Given the description of an element on the screen output the (x, y) to click on. 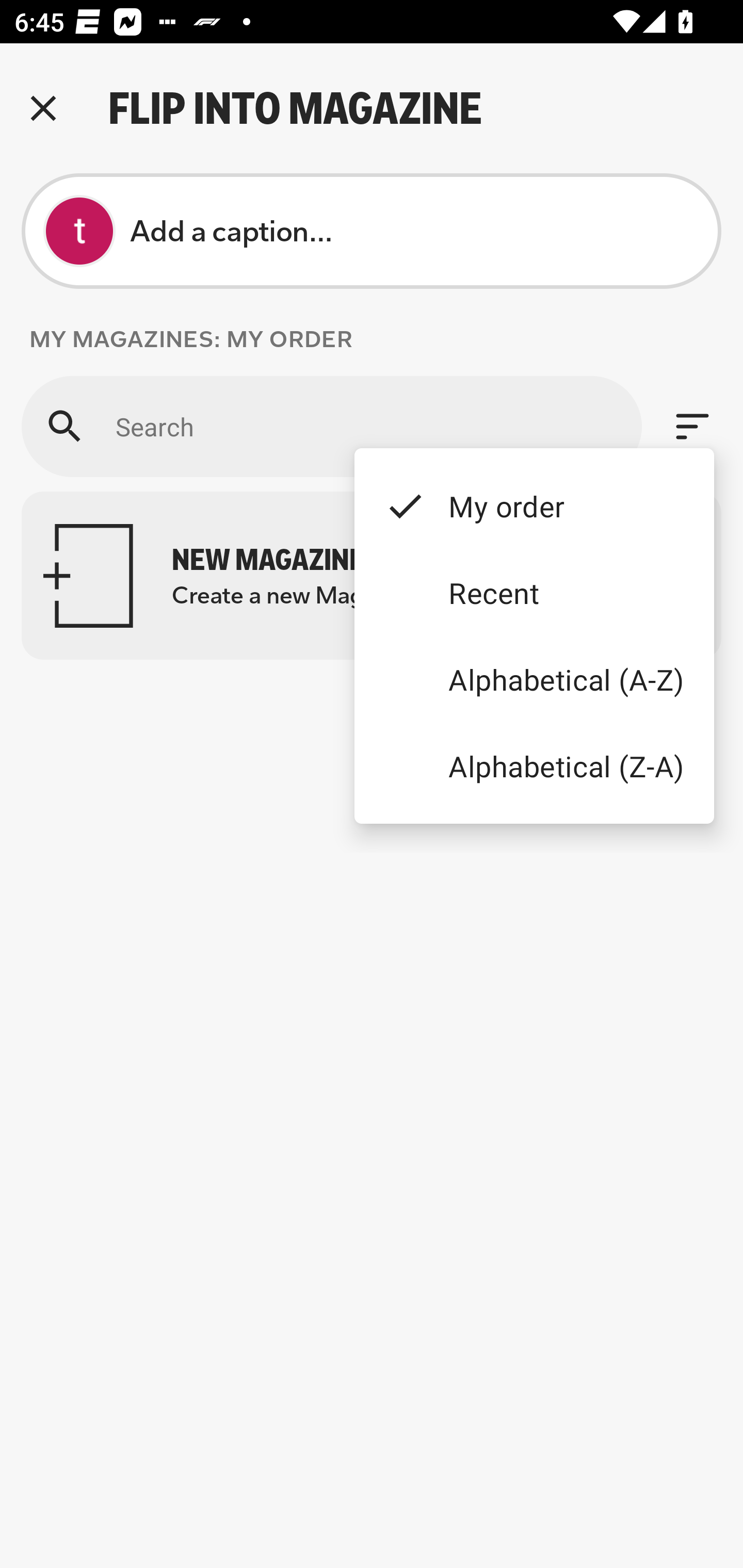
My order (534, 505)
Recent (534, 592)
Alphabetical (A-Z) (534, 679)
Alphabetical (Z-A) (534, 765)
